Given the description of an element on the screen output the (x, y) to click on. 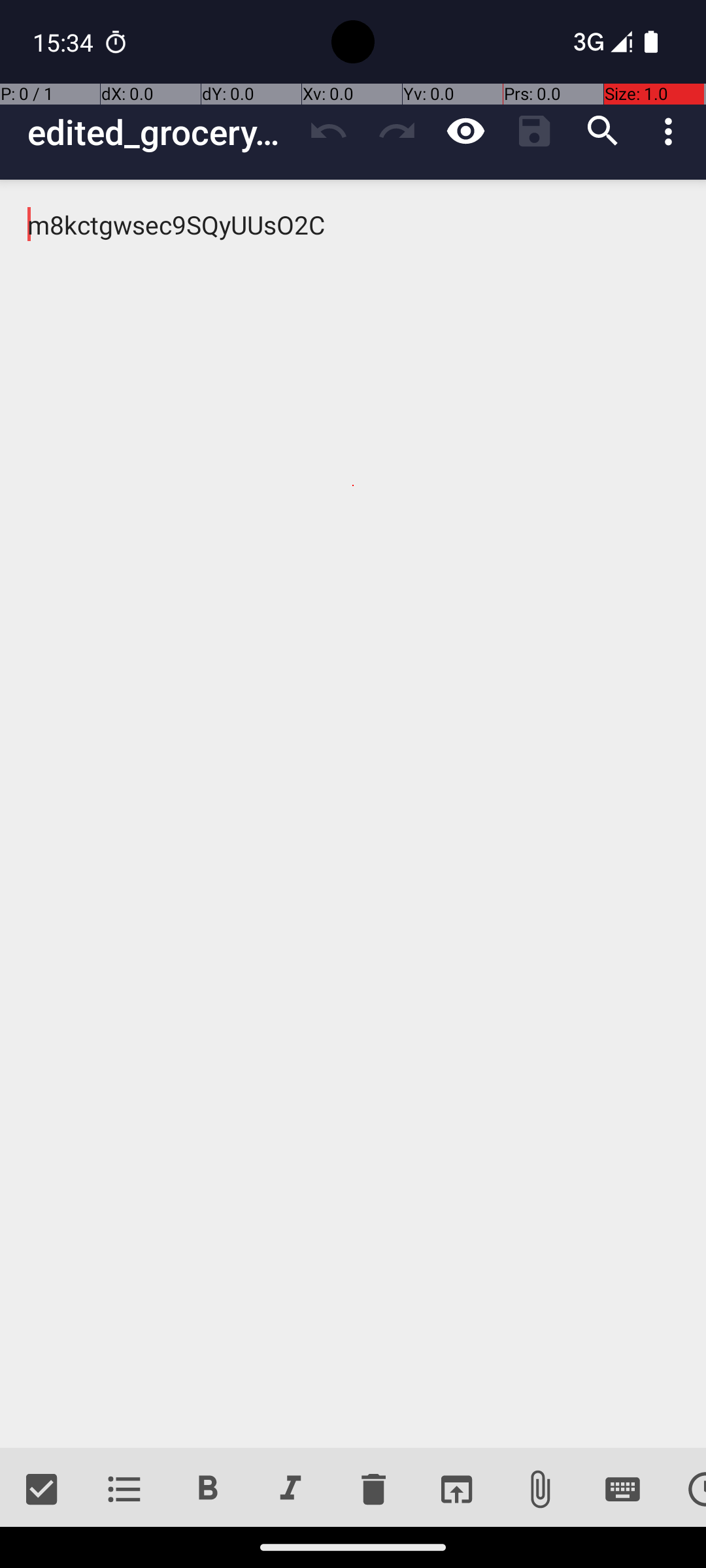
edited_grocery_list_weekly Element type: android.widget.TextView (160, 131)
m8kctgwsec9SQyUUsO2C
 Element type: android.widget.EditText (353, 813)
